Given the description of an element on the screen output the (x, y) to click on. 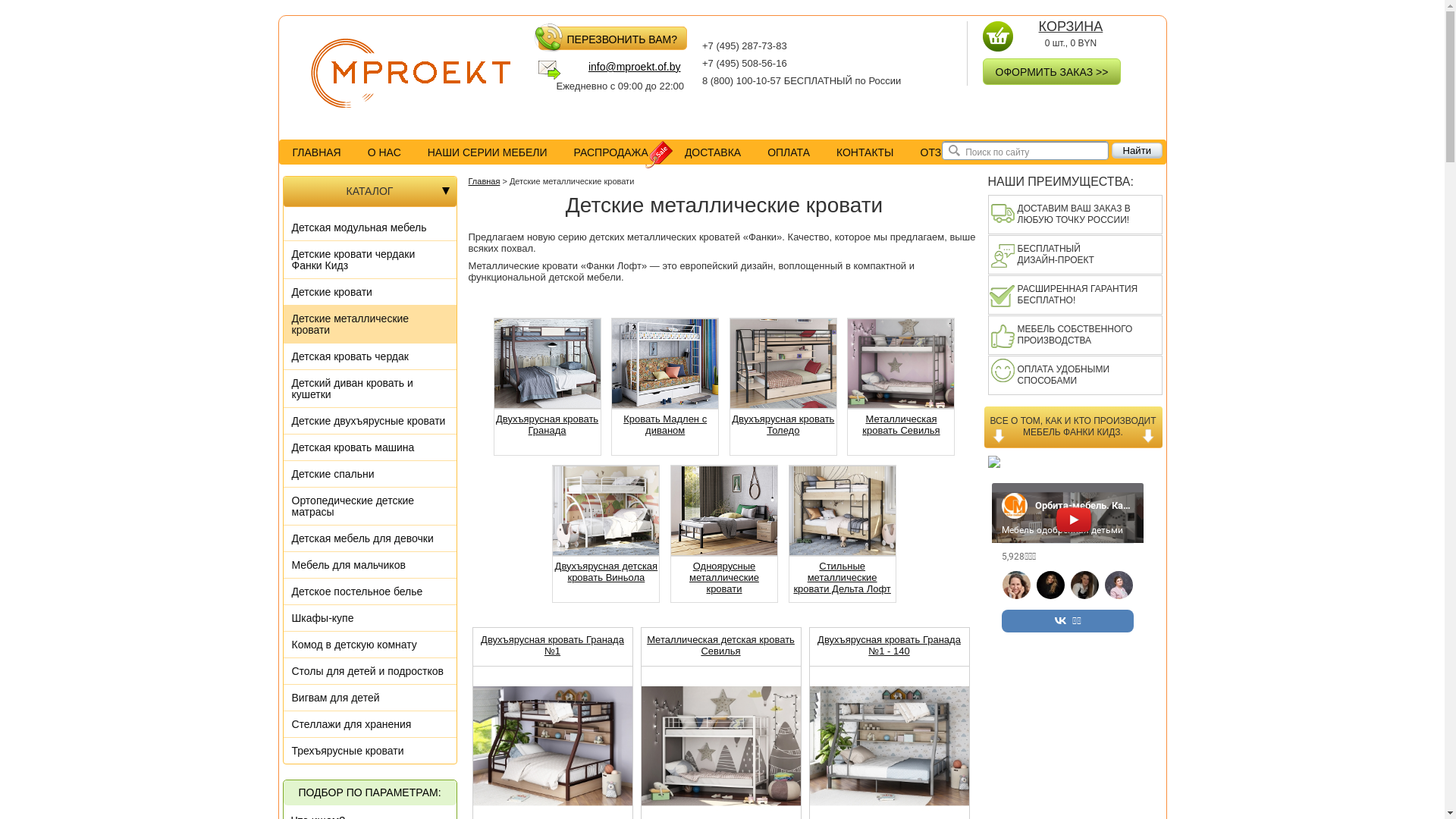
info@mproekt.of.by Element type: text (620, 70)
